Given the description of an element on the screen output the (x, y) to click on. 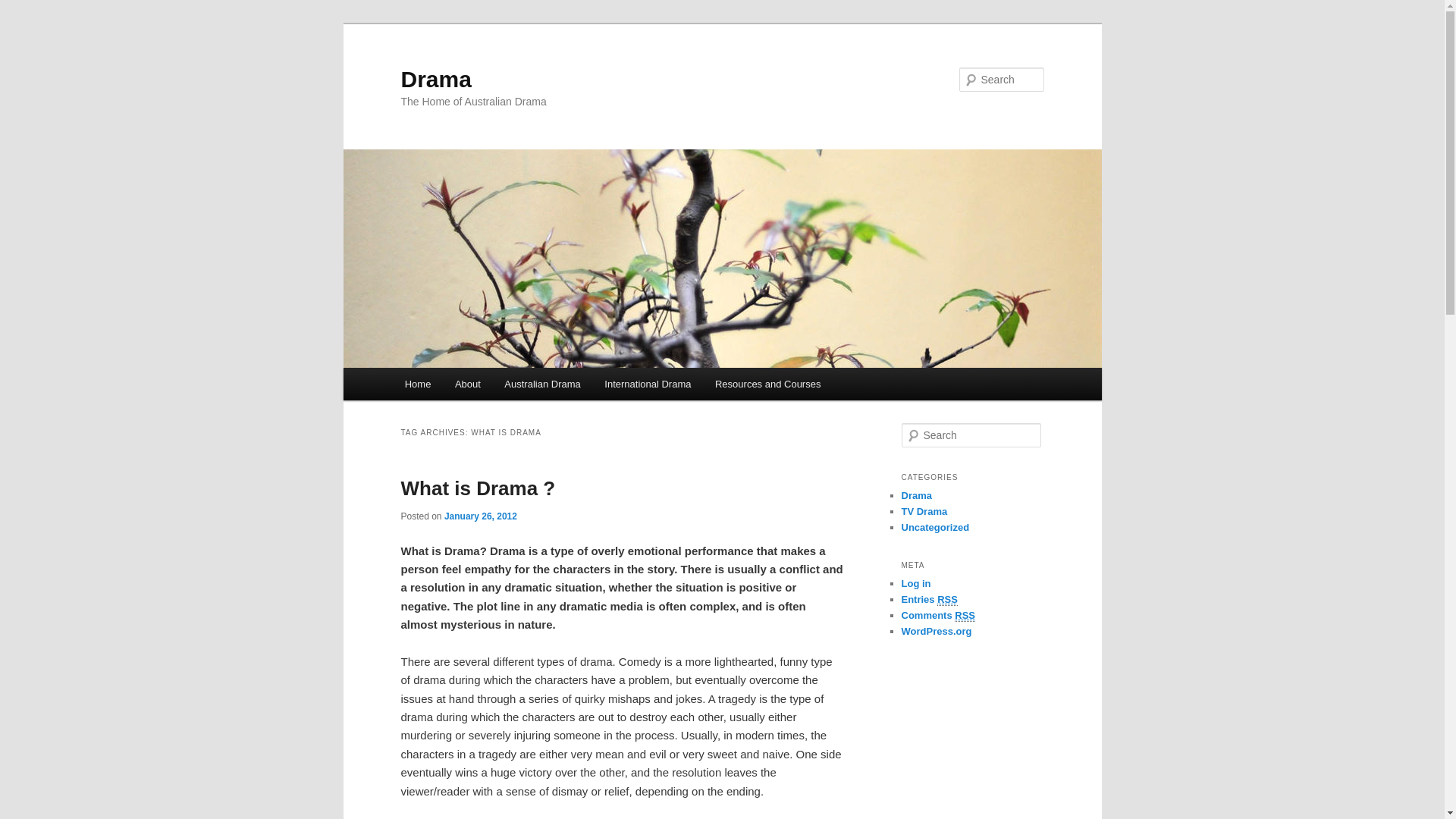
Uncategorized Element type: text (934, 527)
Skip to primary content Element type: text (472, 386)
WordPress.org Element type: text (935, 631)
Home Element type: text (417, 383)
Drama Element type: text (435, 78)
International Drama Element type: text (648, 383)
About Element type: text (467, 383)
January 26, 2012 Element type: text (480, 516)
Drama Element type: text (915, 495)
TV Drama Element type: text (923, 511)
Skip to secondary content Element type: text (479, 386)
Log in Element type: text (915, 583)
Entries RSS Element type: text (928, 599)
Comments RSS Element type: text (937, 615)
Australian Drama Element type: text (542, 383)
What is Drama ? Element type: text (477, 487)
Search Element type: text (24, 8)
Search Element type: text (20, 10)
Resources and Courses Element type: text (767, 383)
